Given the description of an element on the screen output the (x, y) to click on. 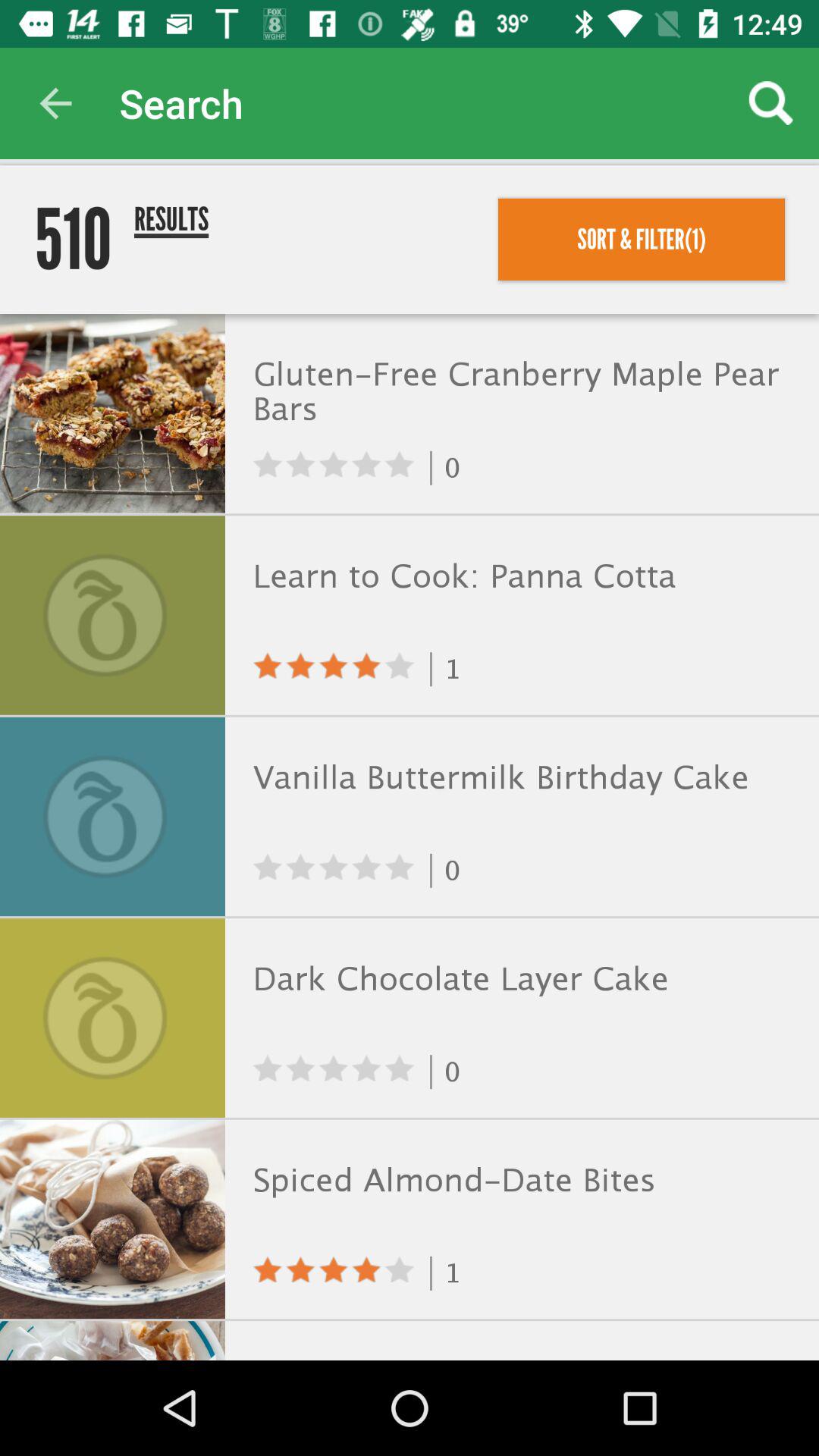
flip to gluten free cranberry item (518, 393)
